Given the description of an element on the screen output the (x, y) to click on. 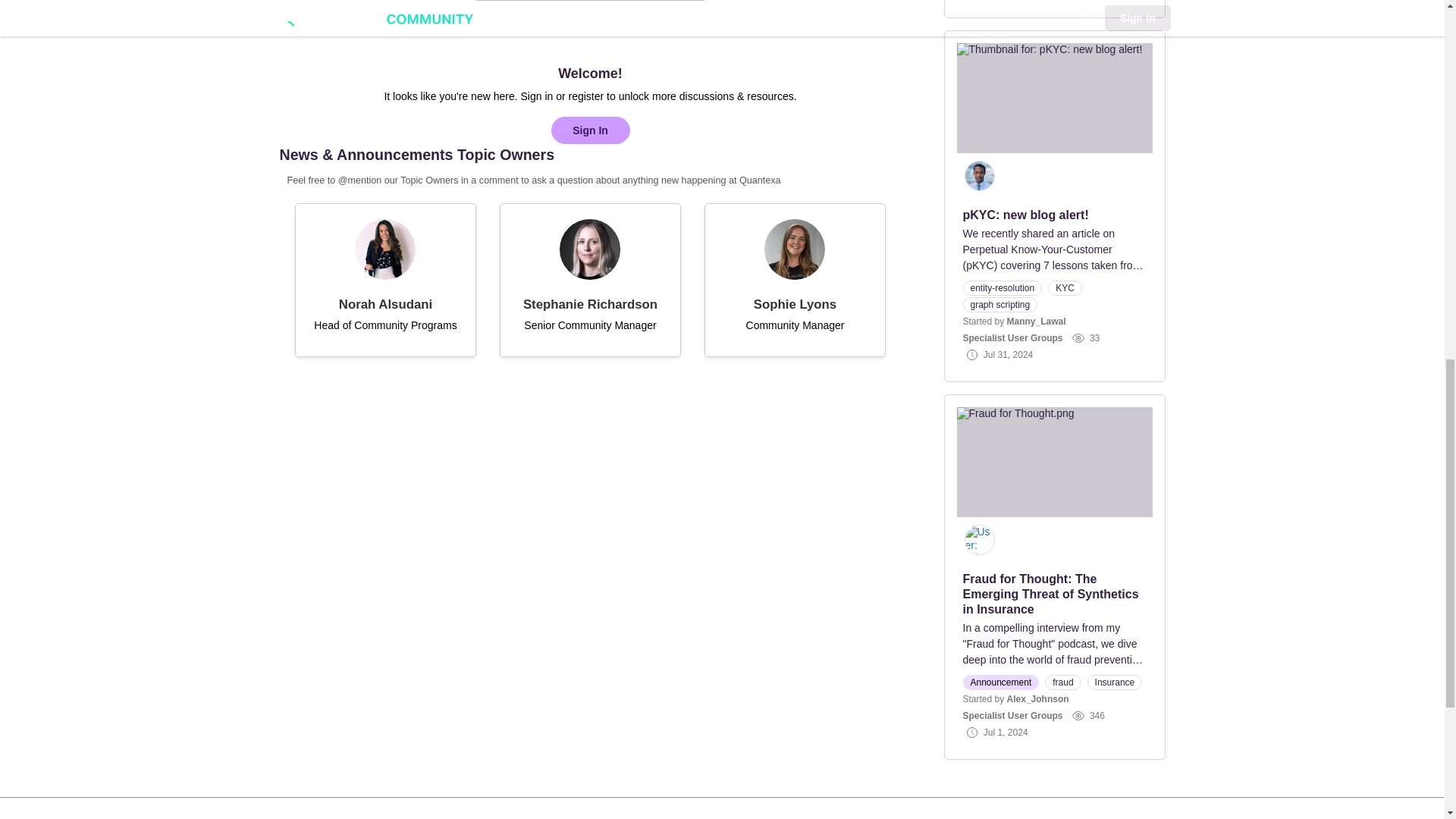
Wednesday, July 31, 2024 at 6:10 PM (1008, 354)
Sign In (589, 130)
Norah Alsudani (385, 303)
Stephanie Richardson (590, 303)
Sophie Lyons (794, 303)
Sign In (589, 130)
